Given the description of an element on the screen output the (x, y) to click on. 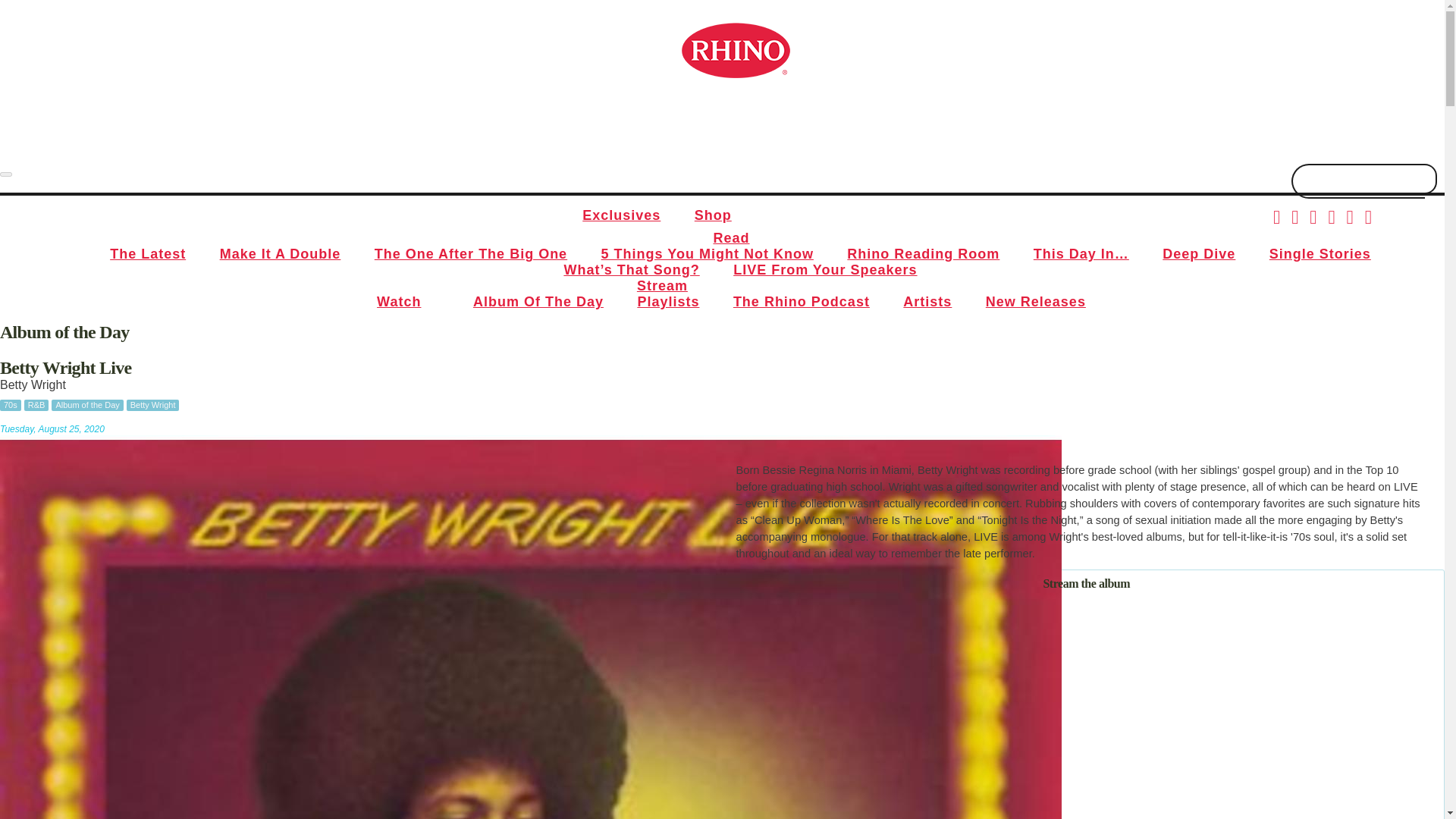
5 Things You Might Not Know (707, 253)
Make It A Double (280, 253)
LIVE From Your Speakers (824, 269)
Rhino.com Home (735, 49)
The Latest (147, 253)
Single Stories (1319, 253)
The One After The Big One (470, 253)
Rhino.com Home (735, 49)
Shop (712, 215)
The Rhino Podcast (801, 301)
Playlists (667, 301)
Stream (662, 285)
Watch (398, 301)
Rhino Reading Room (922, 253)
